Given the description of an element on the screen output the (x, y) to click on. 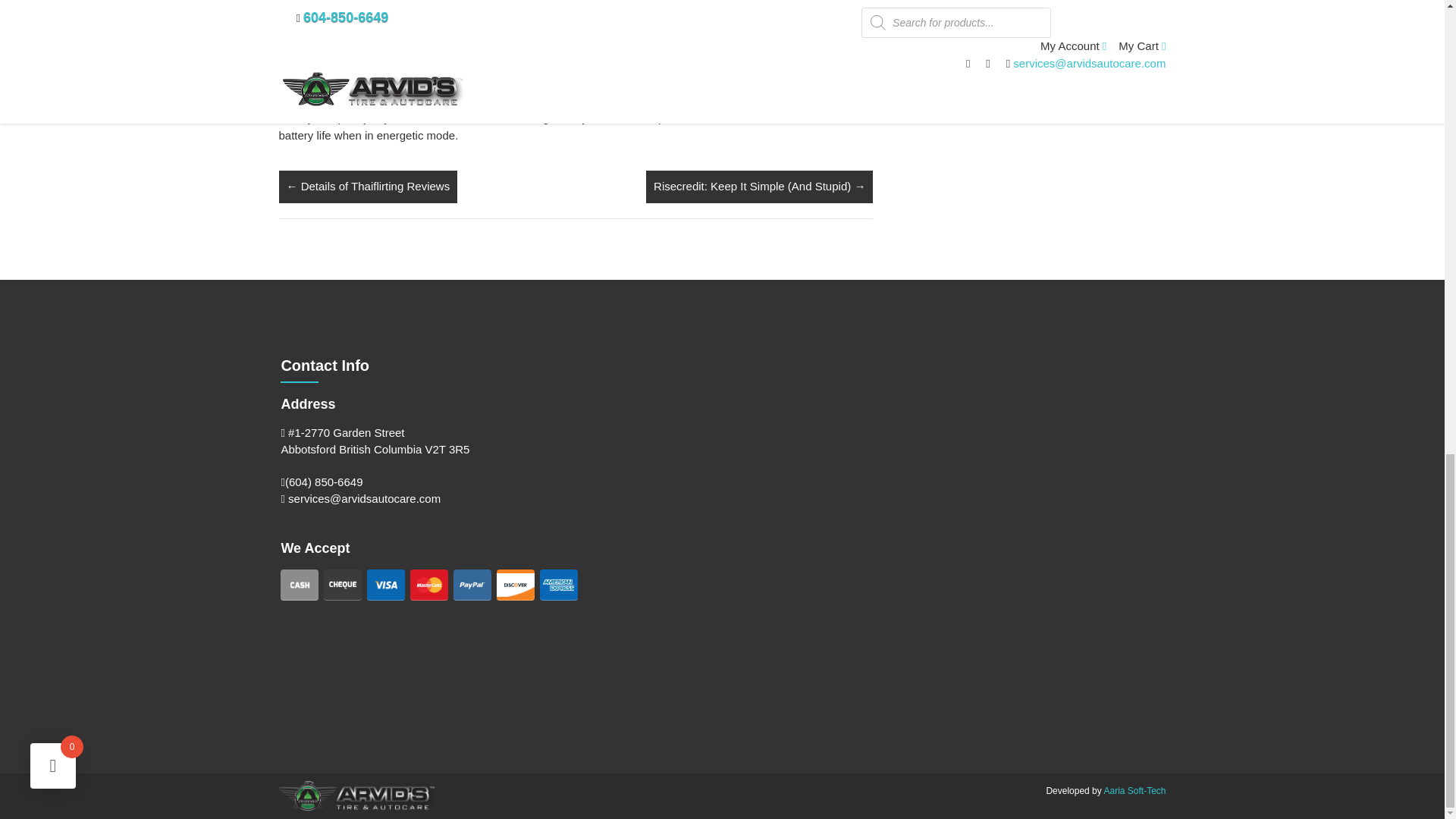
Aaria Soft-Tech (1134, 790)
